Given the description of an element on the screen output the (x, y) to click on. 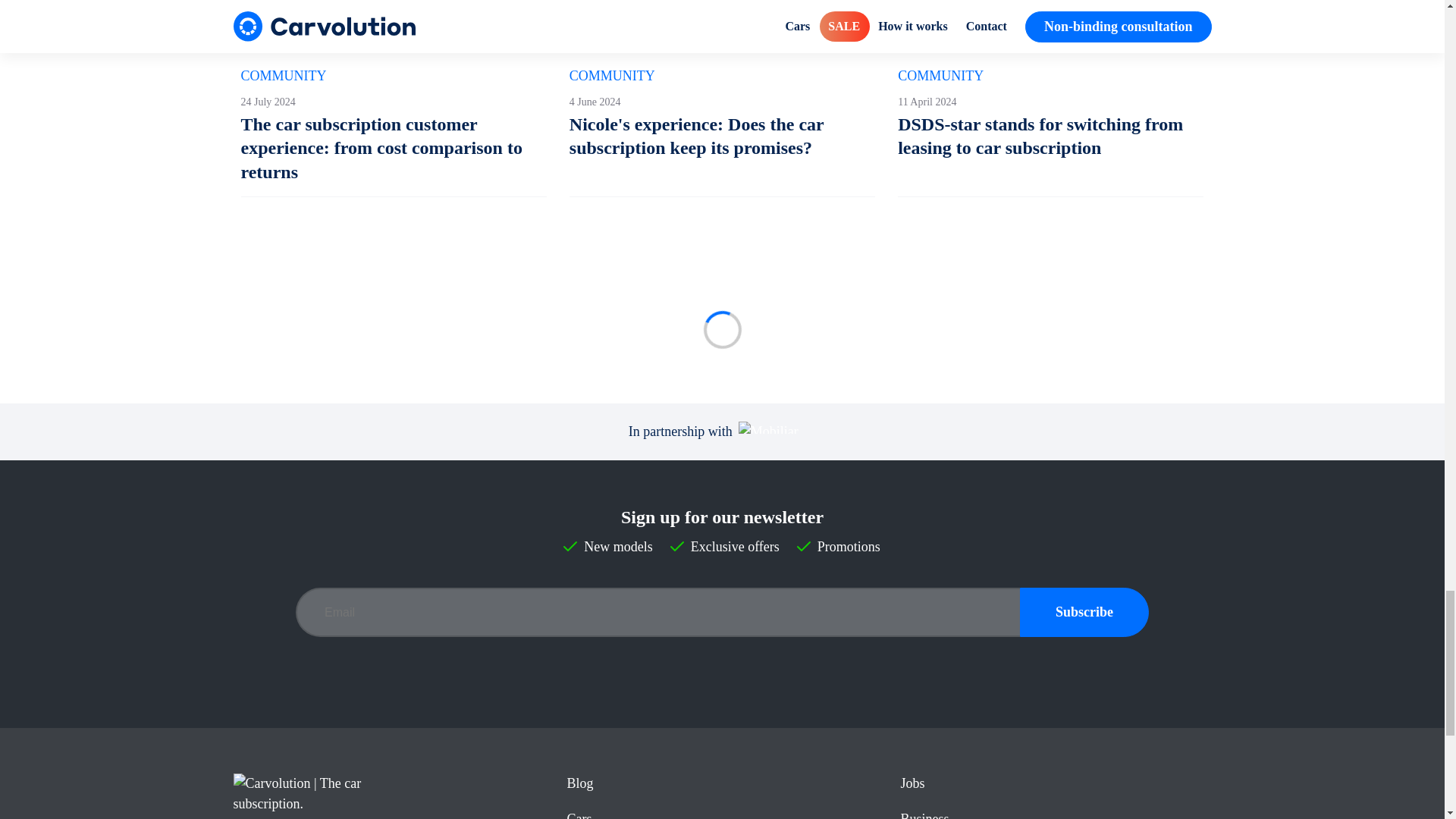
Cars (578, 815)
Business (924, 815)
Jobs (911, 783)
Blog (579, 783)
